Given the description of an element on the screen output the (x, y) to click on. 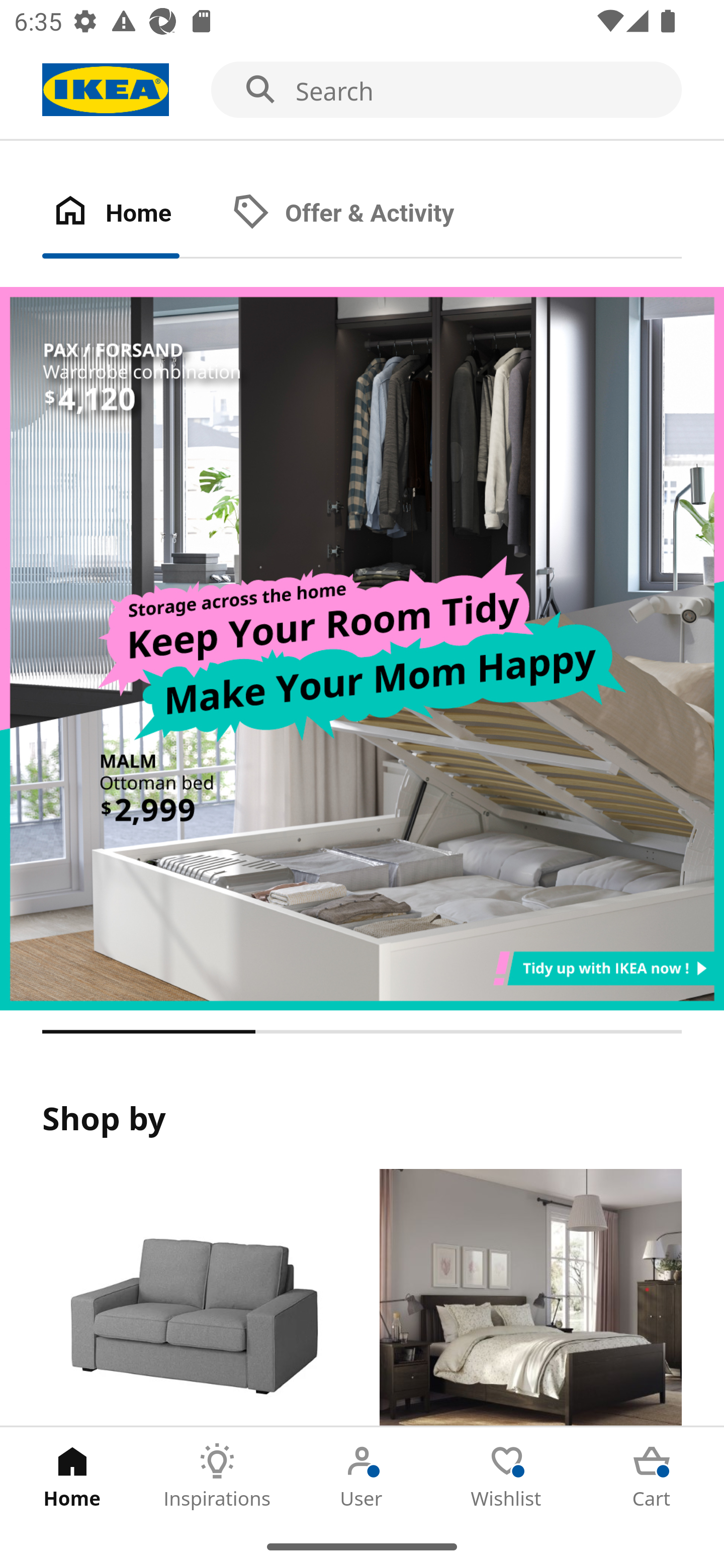
Search (361, 90)
Home
Tab 1 of 2 (131, 213)
Offer & Activity
Tab 2 of 2 (363, 213)
Products (192, 1297)
Rooms (530, 1297)
Home
Tab 1 of 5 (72, 1476)
Inspirations
Tab 2 of 5 (216, 1476)
User
Tab 3 of 5 (361, 1476)
Wishlist
Tab 4 of 5 (506, 1476)
Cart
Tab 5 of 5 (651, 1476)
